Given the description of an element on the screen output the (x, y) to click on. 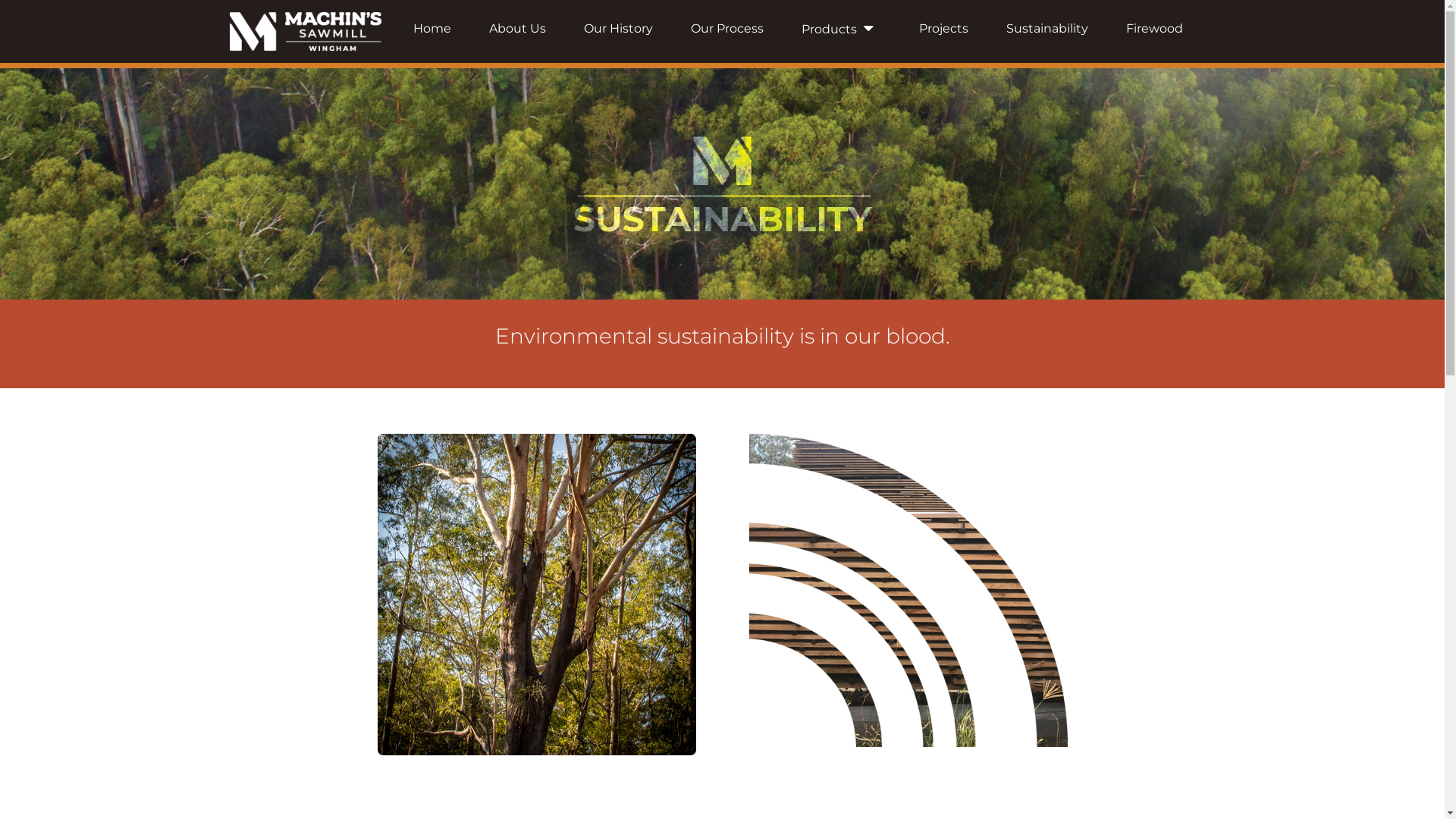
About Us Element type: text (517, 27)
Our History Element type: text (618, 27)
Products Element type: text (840, 28)
Machin's Sawmill Element type: hover (304, 31)
Firewood Element type: text (1154, 27)
Our Process Element type: text (727, 27)
Sustainability Element type: text (1046, 27)
Projects Element type: text (943, 27)
Home Element type: text (431, 27)
